Given the description of an element on the screen output the (x, y) to click on. 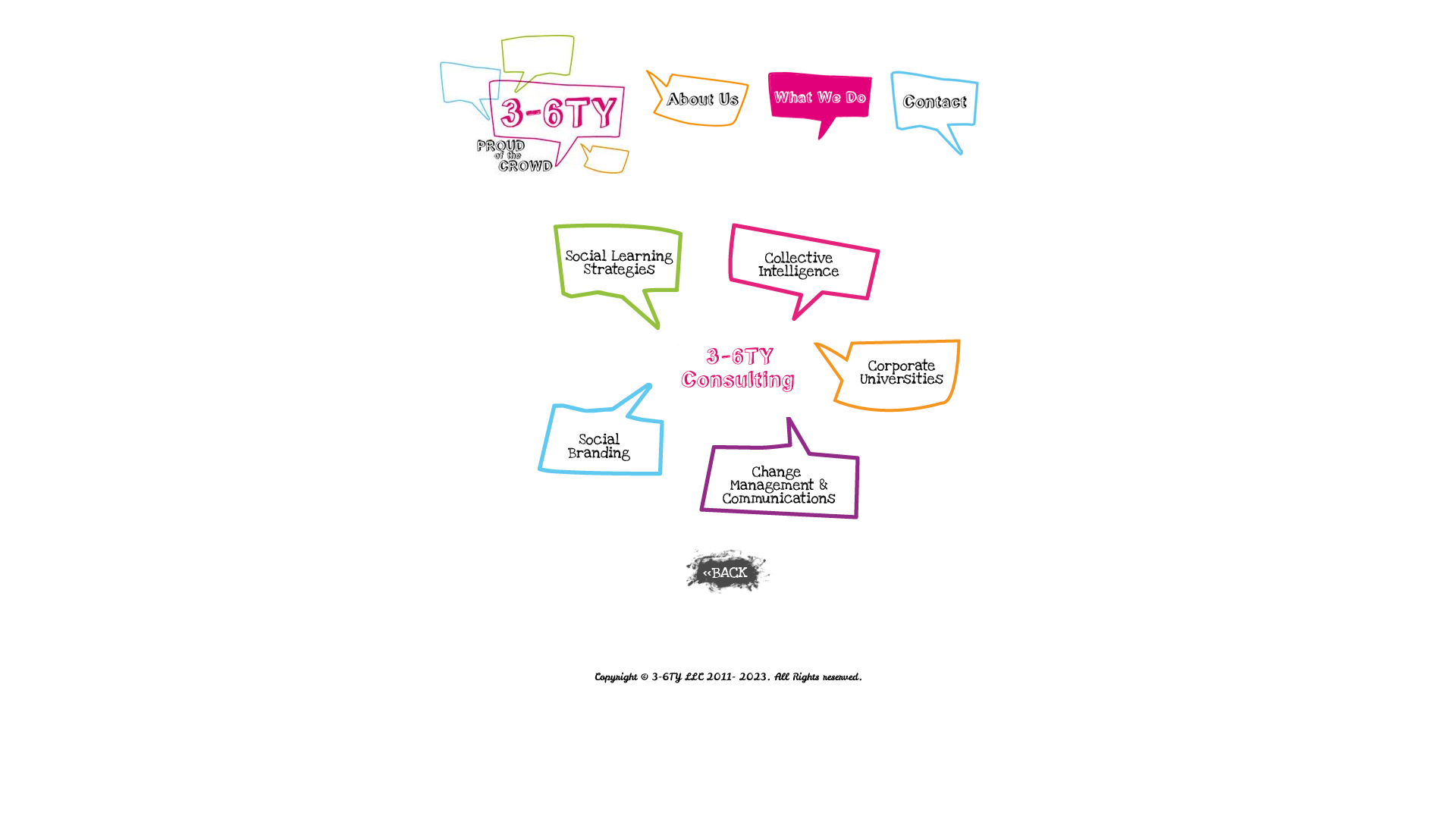
What We Do Element type: hover (819, 105)
